Given the description of an element on the screen output the (x, y) to click on. 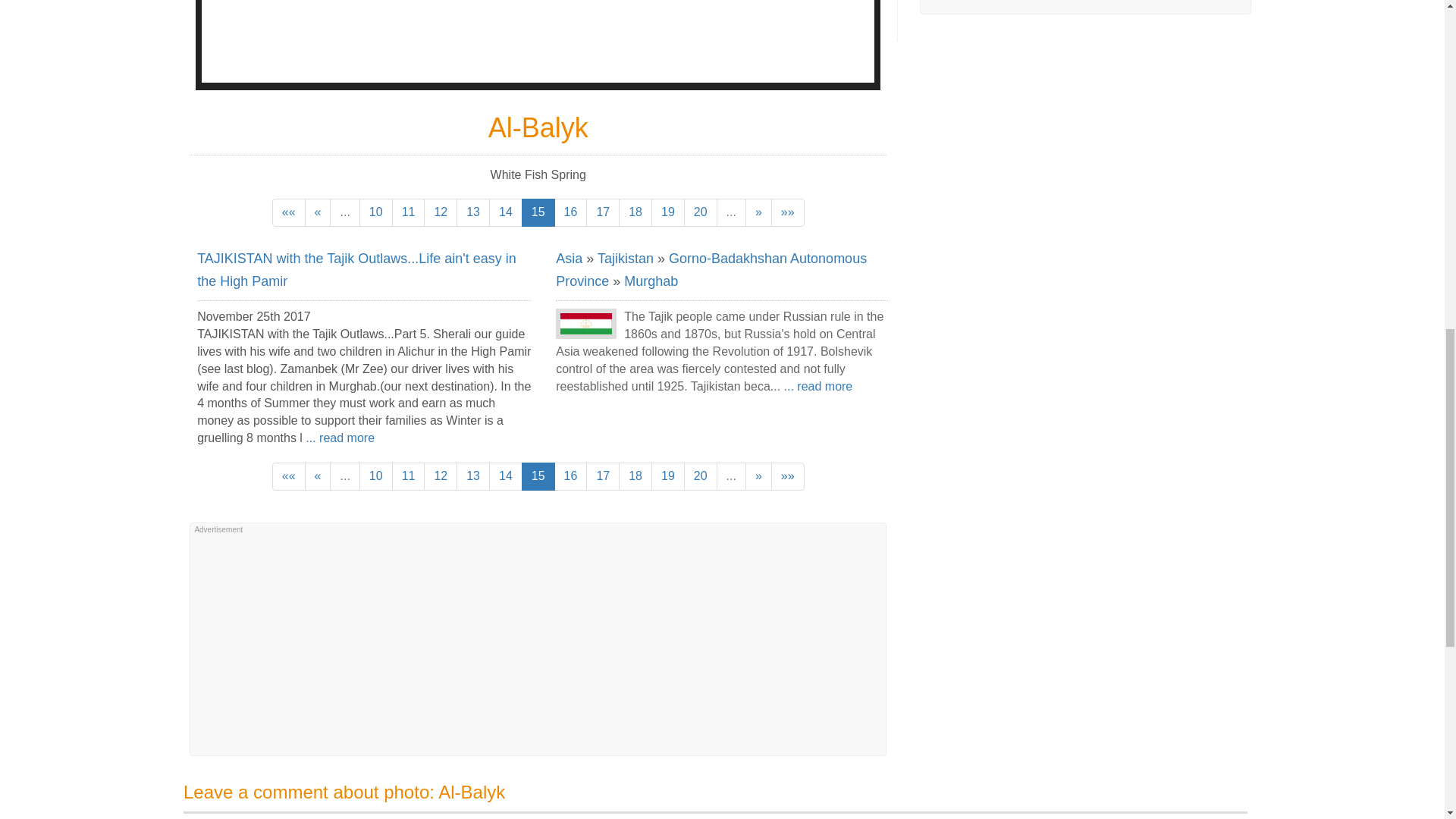
next (758, 212)
Previous (317, 212)
First (288, 212)
Al-Balyk (538, 41)
Last (788, 212)
